Given the description of an element on the screen output the (x, y) to click on. 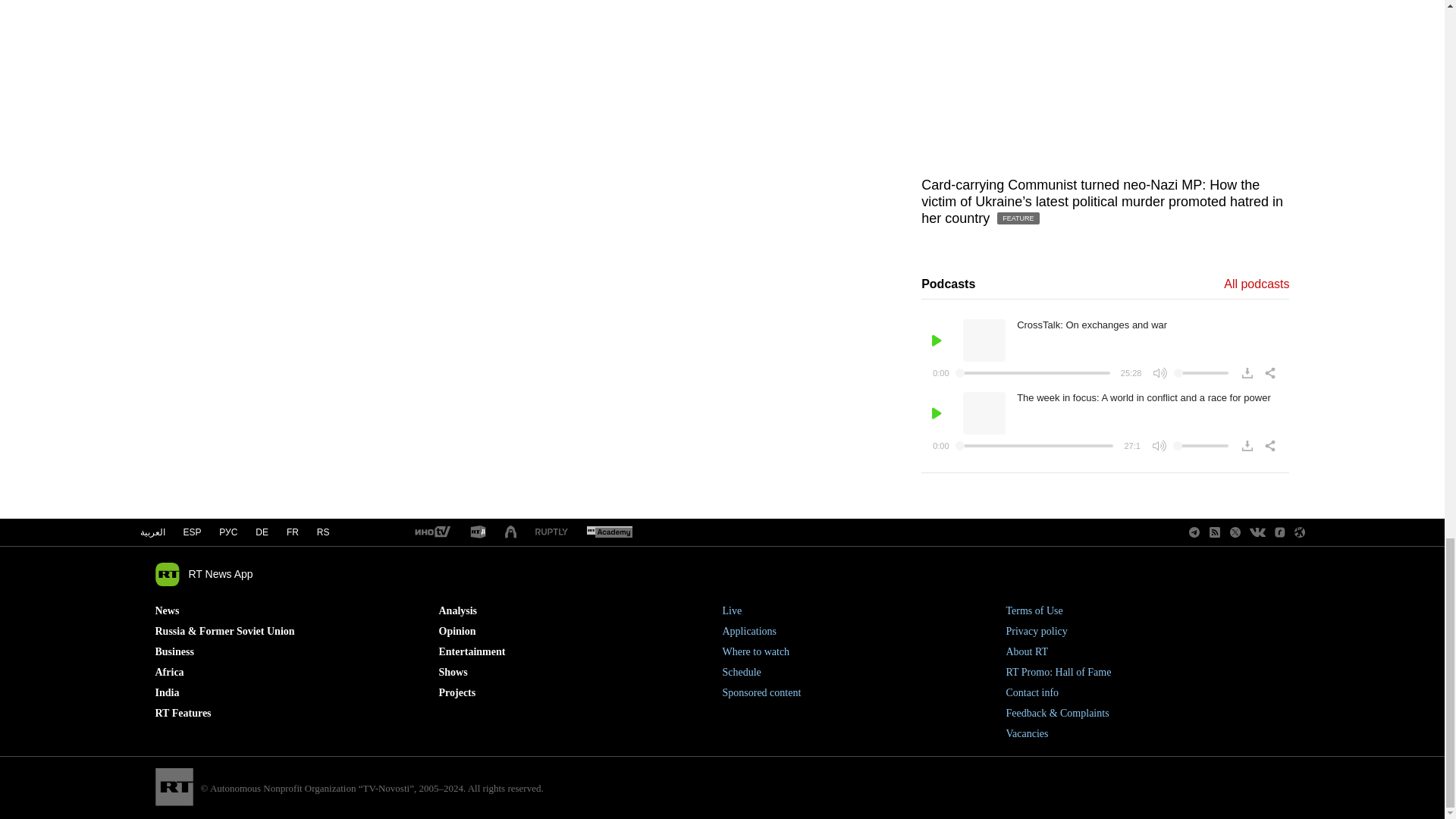
RT  (478, 532)
RT  (551, 532)
RT  (608, 532)
RT  (431, 532)
RT  (510, 532)
